Given the description of an element on the screen output the (x, y) to click on. 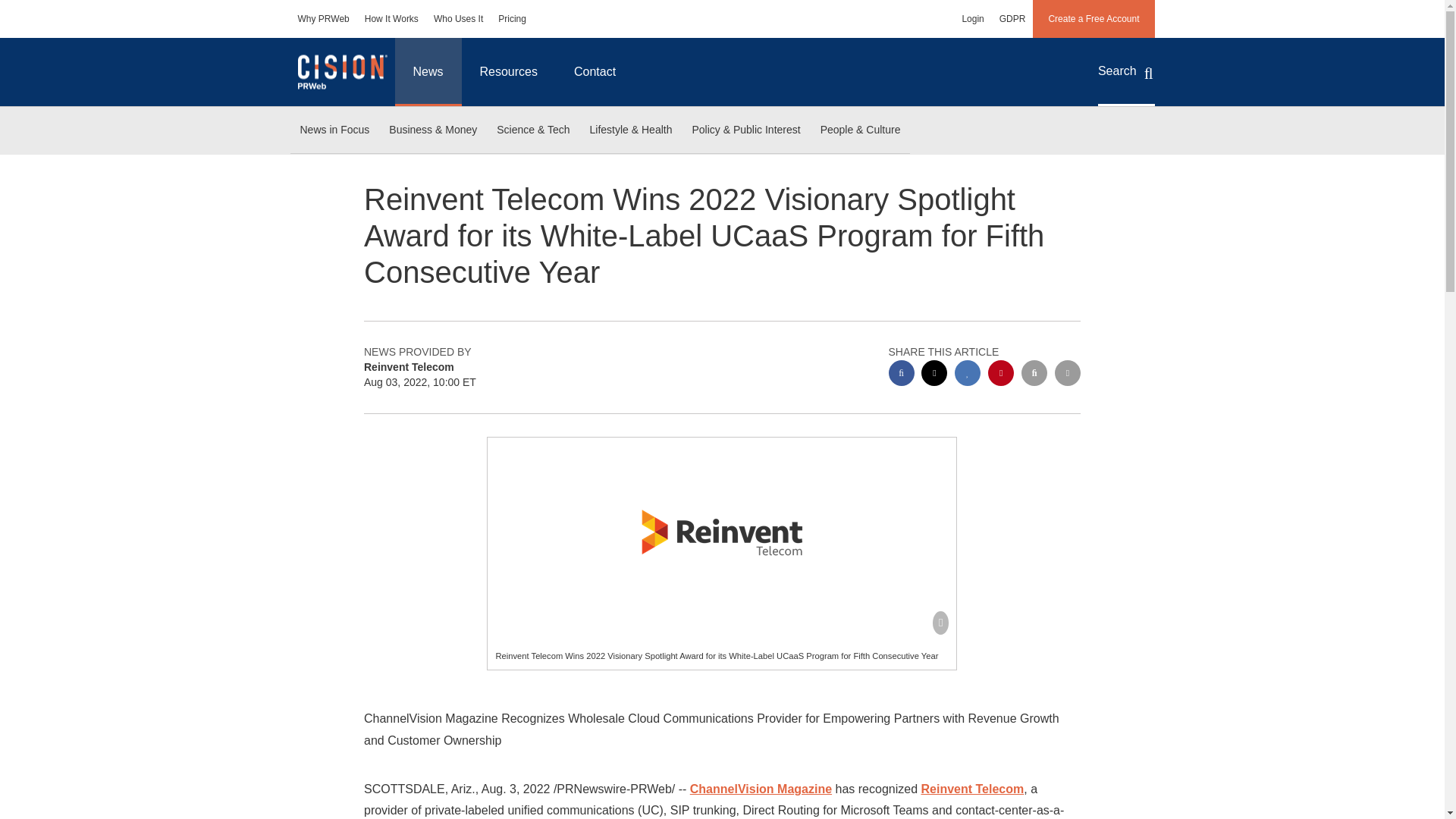
News in Focus (333, 130)
